Given the description of an element on the screen output the (x, y) to click on. 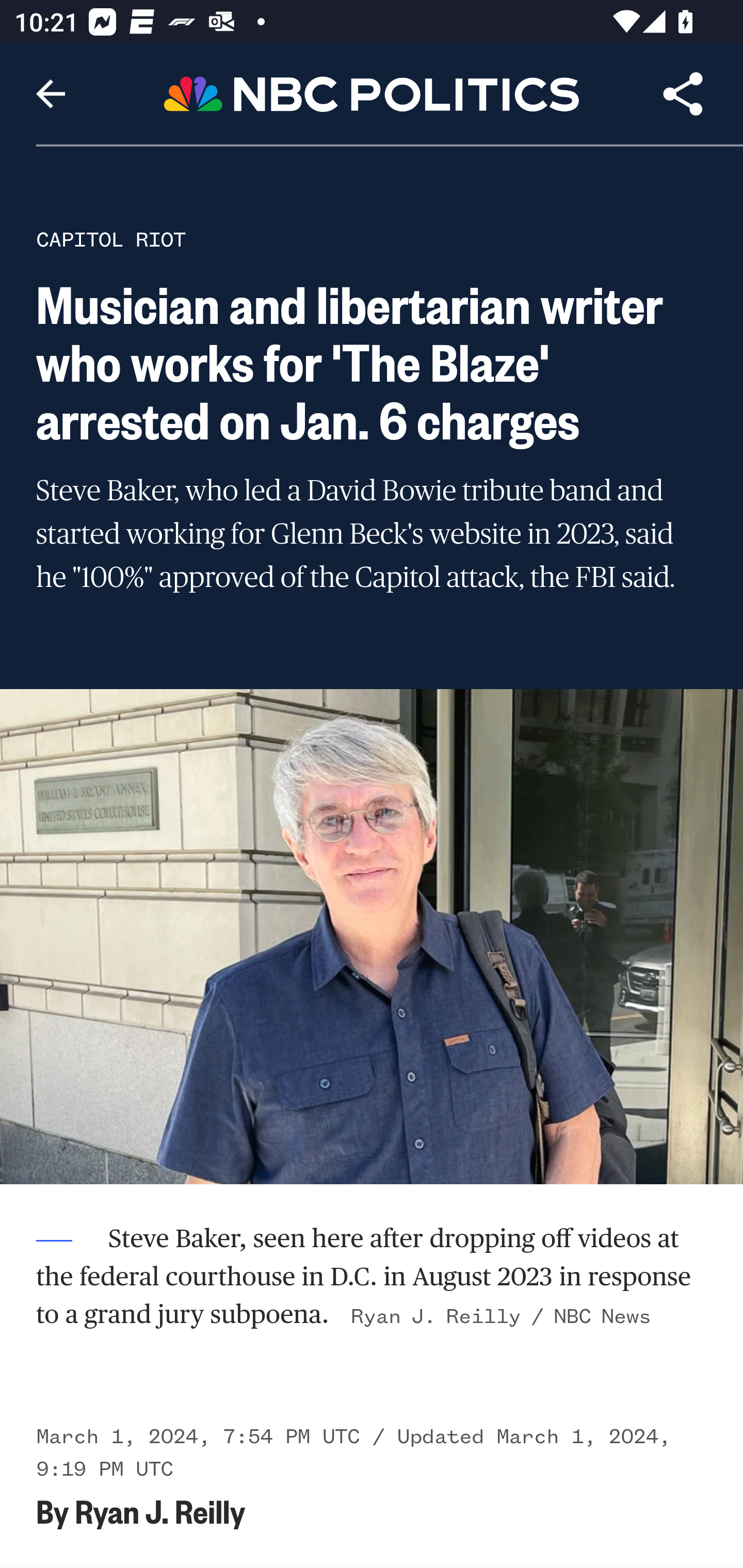
Navigate up (50, 93)
Share Article, button (683, 94)
Header, NBC Politics (371, 93)
CAPITOL RIOT (110, 239)
